Given the description of an element on the screen output the (x, y) to click on. 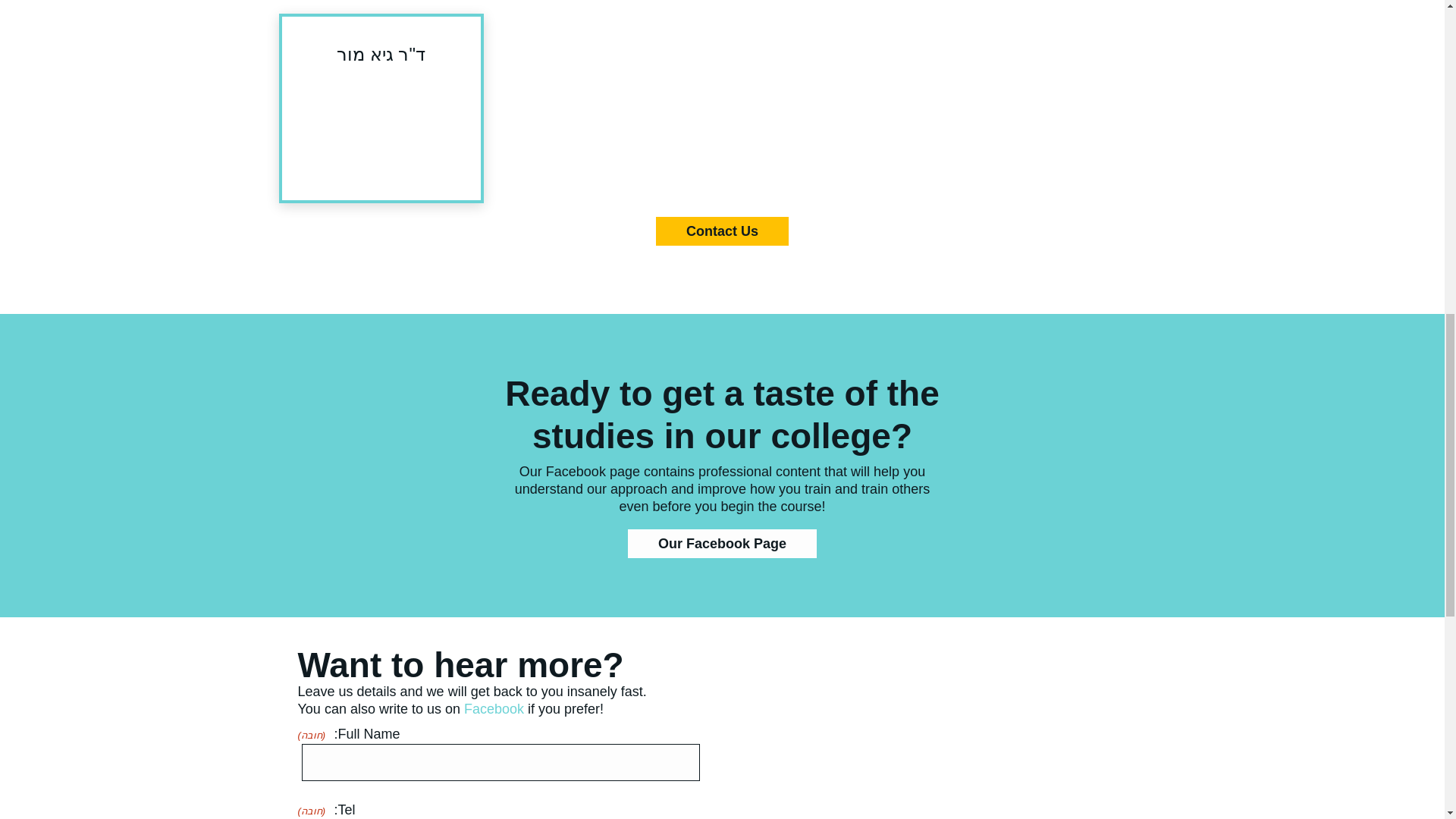
Facebook (494, 708)
Contact Us (722, 231)
Our Facebook Page (721, 543)
